Given the description of an element on the screen output the (x, y) to click on. 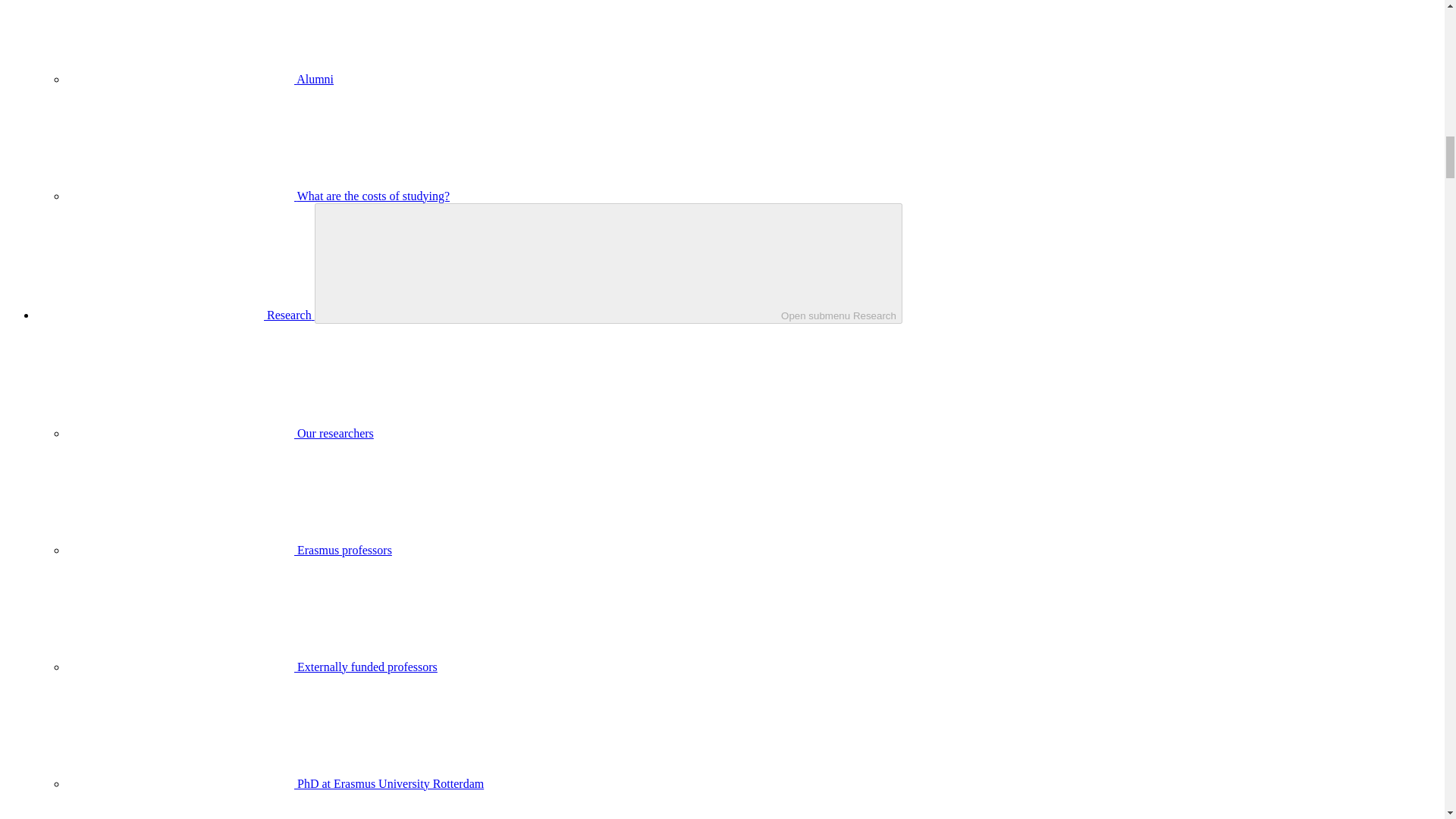
Our researchers (220, 432)
Research (175, 314)
Open submenu Research (608, 263)
Erasmus professors (228, 549)
Alumni (199, 78)
What are the costs of studying? (257, 195)
